Given the description of an element on the screen output the (x, y) to click on. 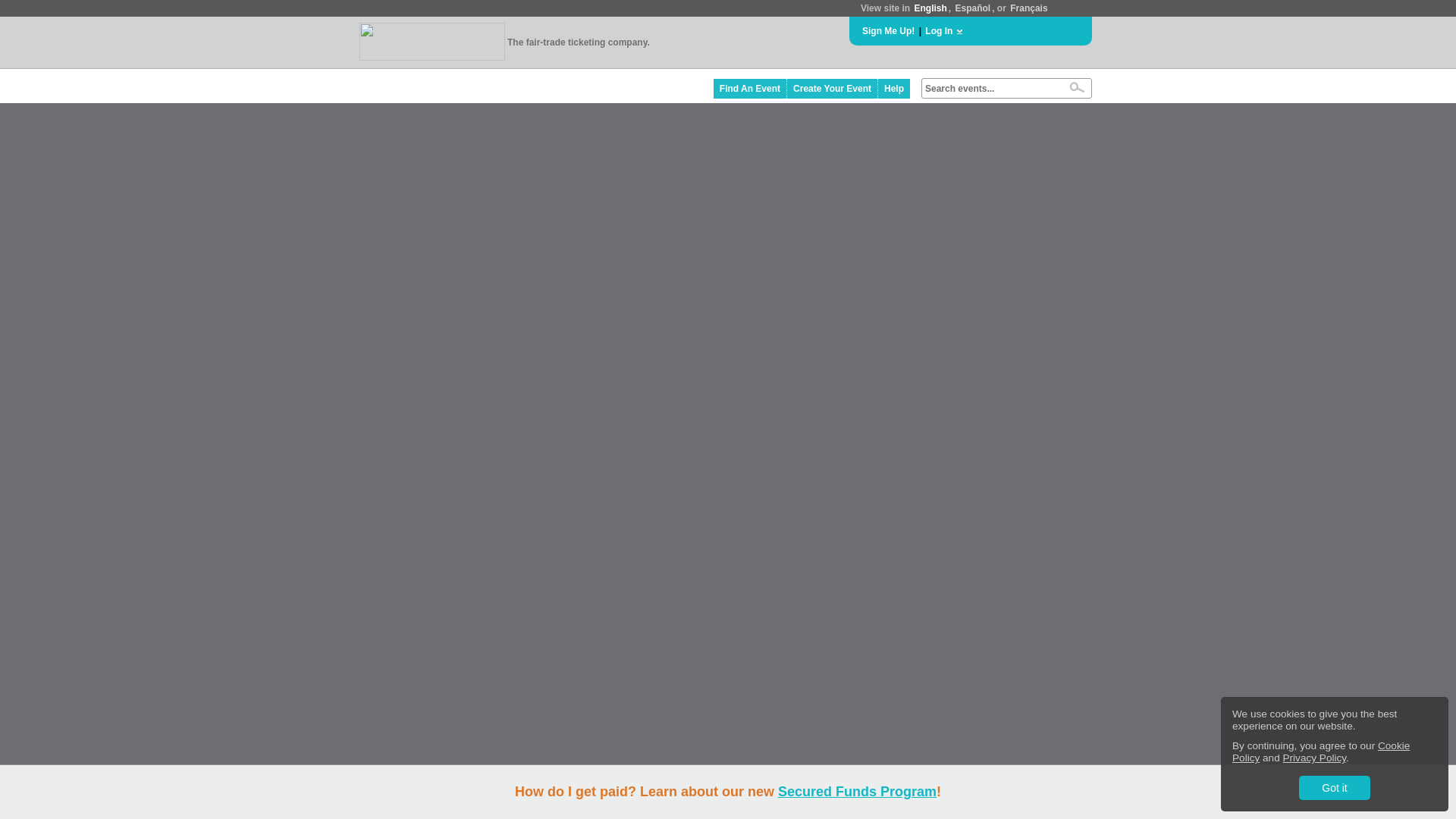
Search Events (1076, 86)
Find An Event (750, 88)
Search events... (991, 88)
Log In (938, 30)
Create Your Event (832, 88)
English (929, 8)
Sign Me Up! (887, 30)
Help (893, 88)
